Given the description of an element on the screen output the (x, y) to click on. 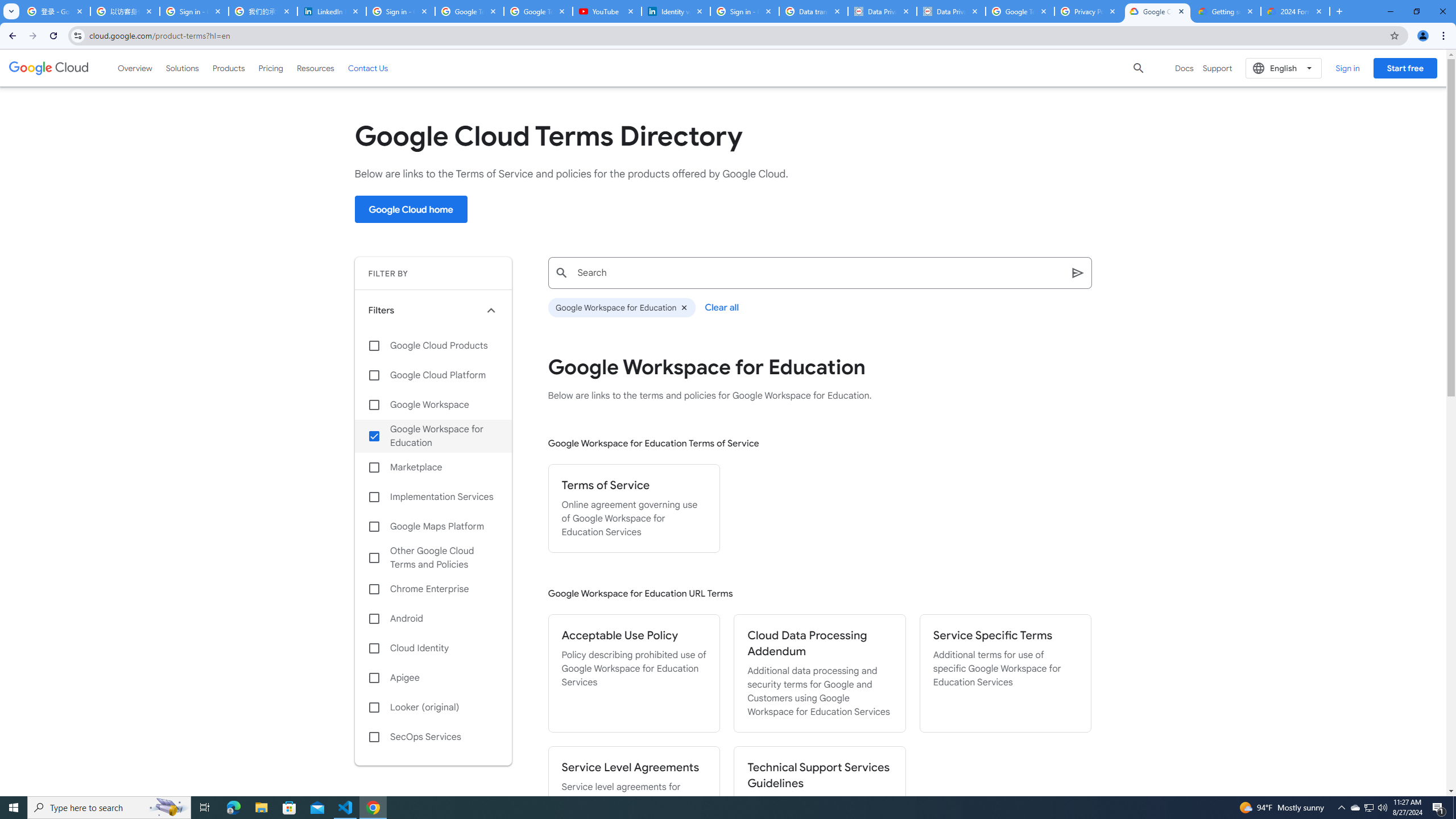
Sign in - Google Accounts (194, 11)
Google Workspace for Education (621, 307)
Other Google Cloud Terms and Policies (432, 557)
SecOps Services (432, 736)
Chrome Enterprise (432, 589)
Filters keyboard_arrow_up (432, 309)
